Given the description of an element on the screen output the (x, y) to click on. 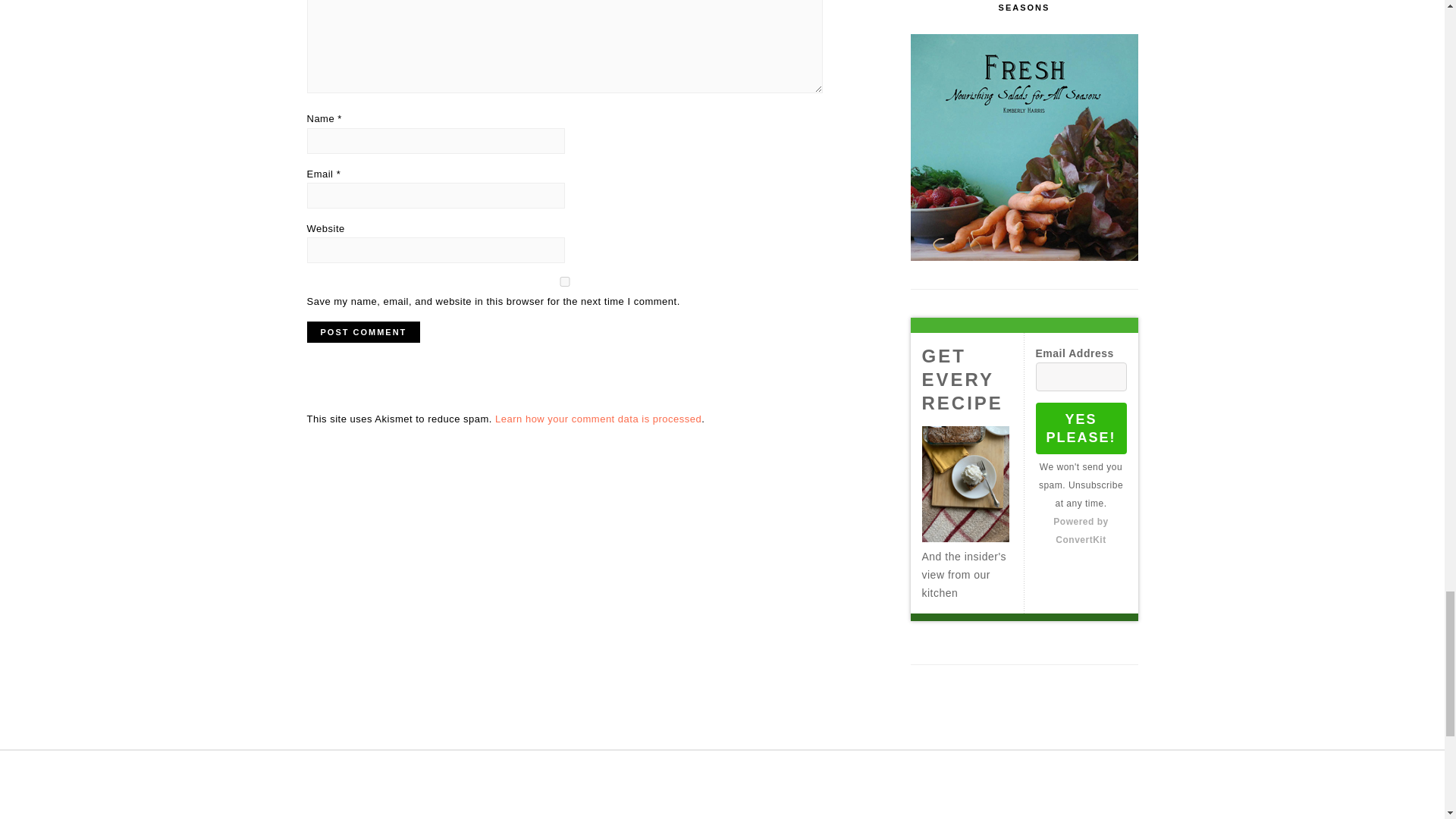
Post Comment (362, 332)
Fresh Cover (1023, 147)
yes (563, 281)
